Given the description of an element on the screen output the (x, y) to click on. 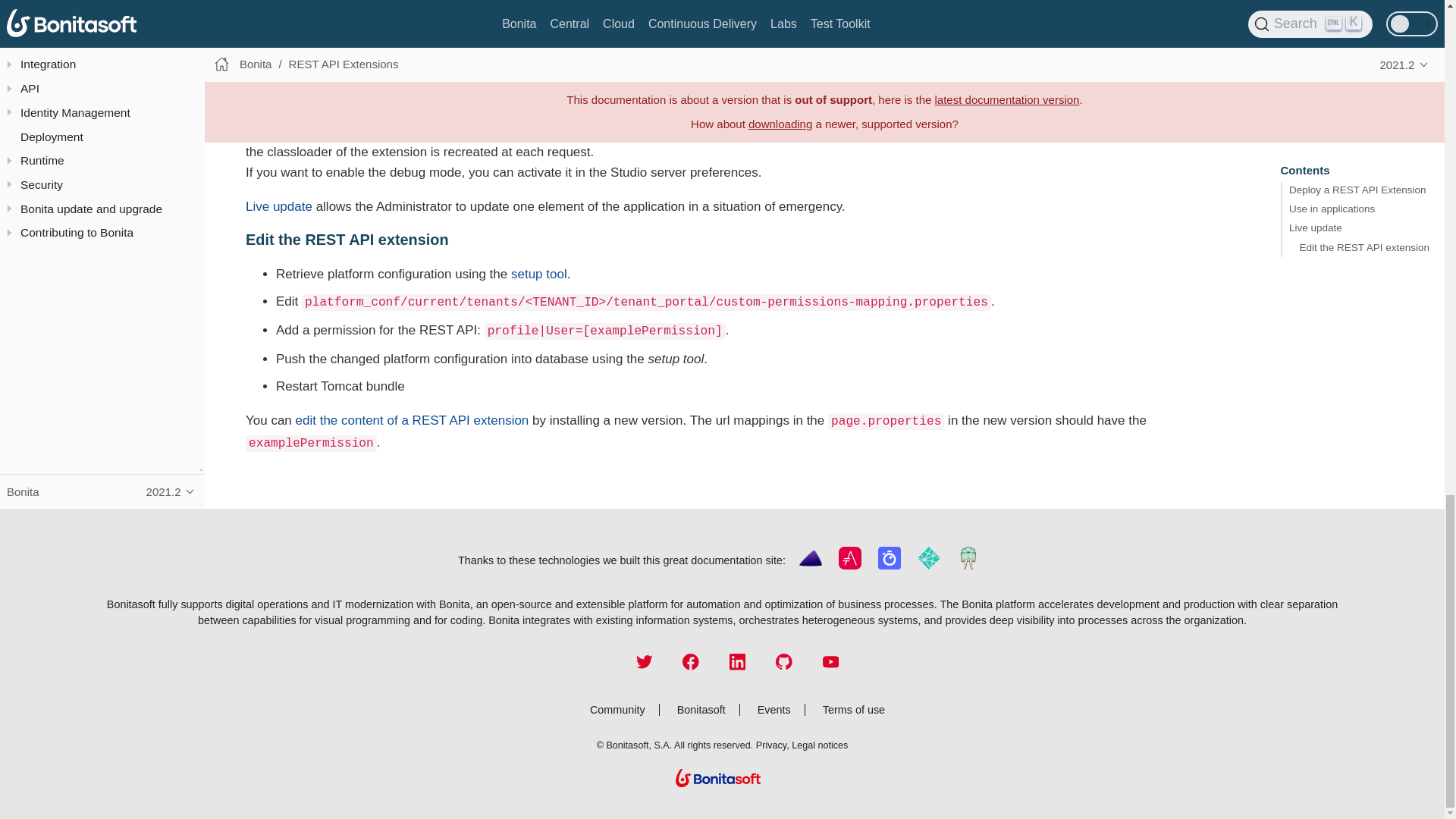
Text processing by Asciidoctor (849, 565)
Site hosting by Netlify (929, 565)
Site generation by Antora (810, 565)
Search by Algolia DocSearch (888, 565)
Web publishing preview by Surge (968, 565)
